Given the description of an element on the screen output the (x, y) to click on. 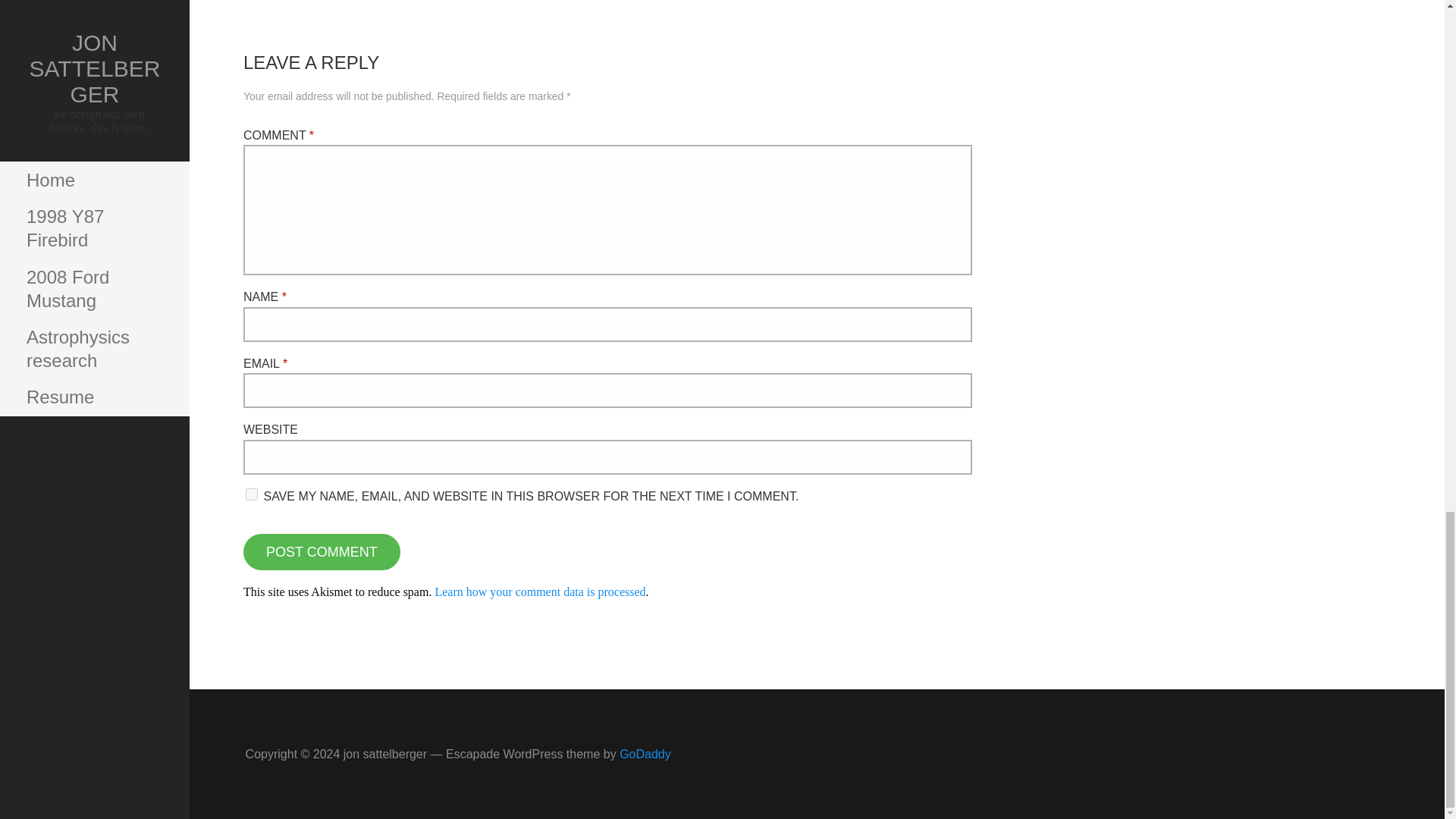
Post Comment (321, 551)
Learn how your comment data is processed (539, 591)
yes (251, 494)
Post Comment (321, 551)
GoDaddy (645, 753)
